Given the description of an element on the screen output the (x, y) to click on. 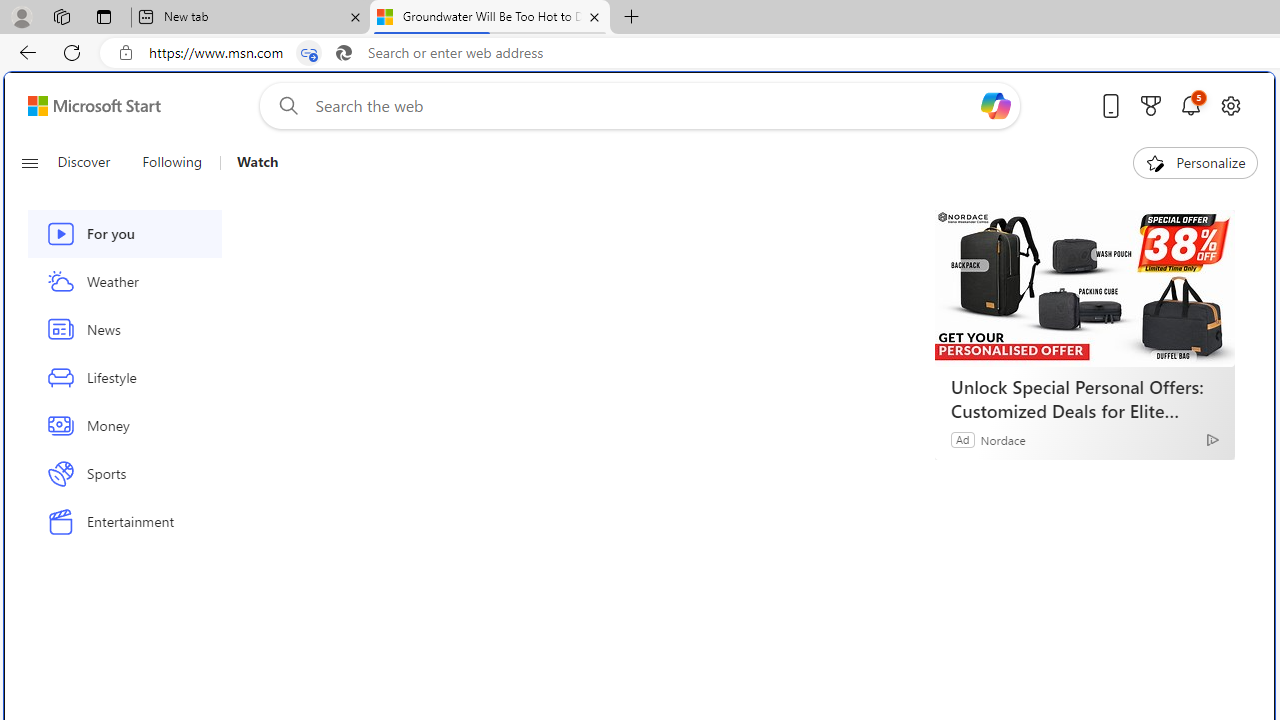
Search icon (343, 53)
Skip to footer (82, 105)
To get missing image descriptions, open the context menu. (1155, 162)
Open navigation menu (29, 162)
